Given the description of an element on the screen output the (x, y) to click on. 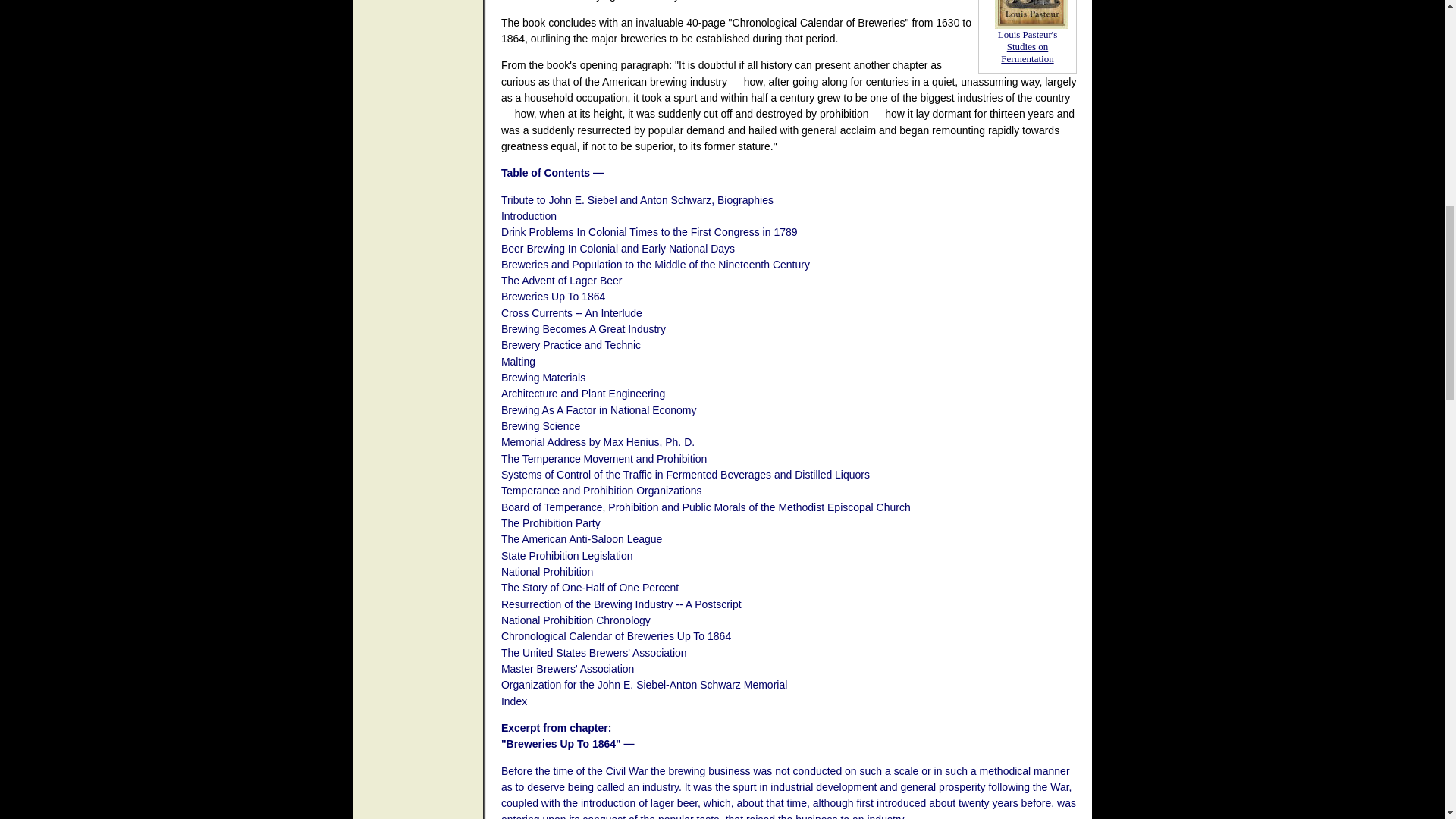
Louis Pasteur's Studies on Fermentation (1027, 46)
